Given the description of an element on the screen output the (x, y) to click on. 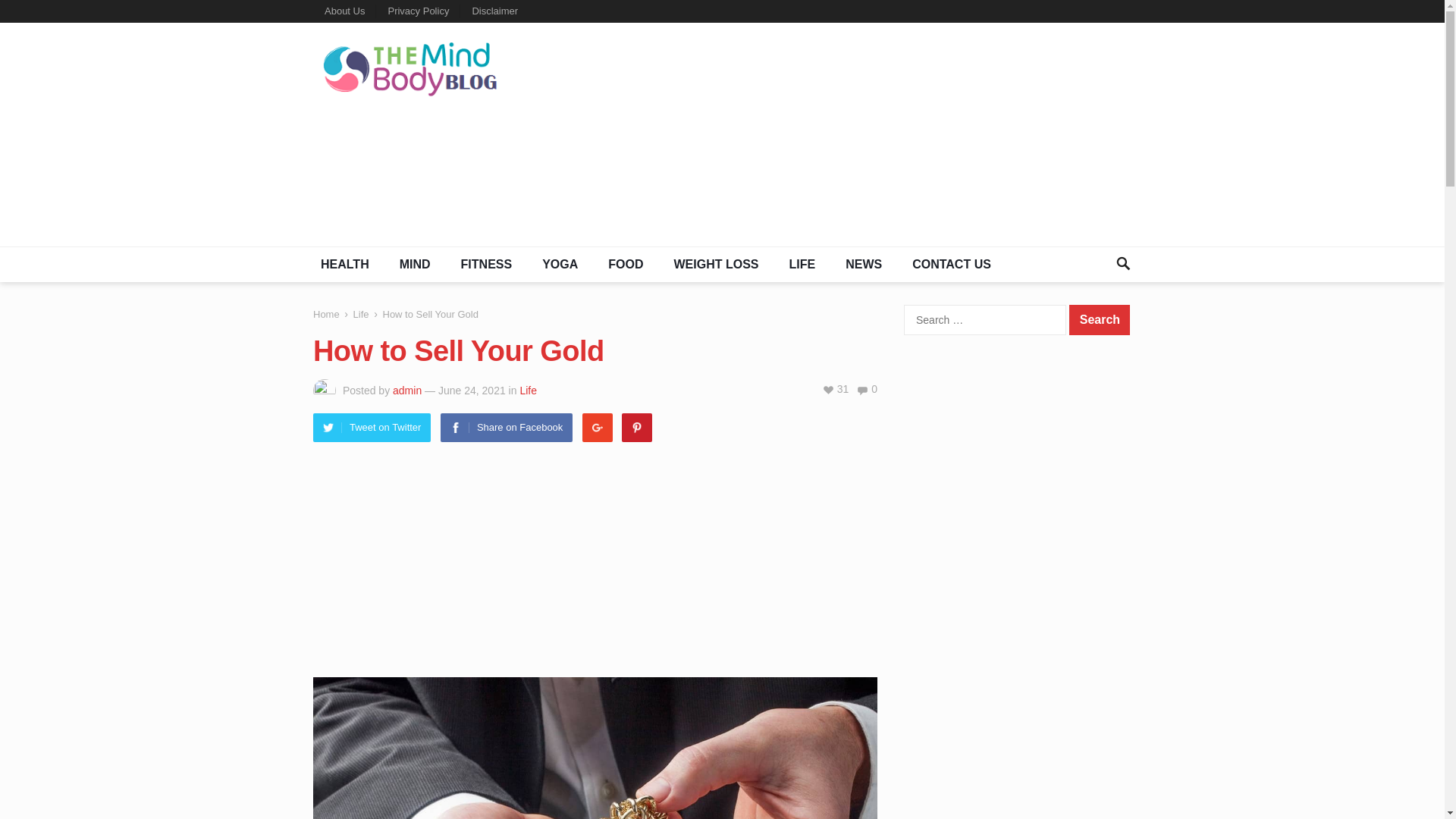
Posts by admin (407, 390)
View all posts in Life (528, 390)
Privacy Policy (417, 11)
admin (407, 390)
0 (866, 388)
Search (1098, 319)
Search (1098, 319)
FITNESS (485, 264)
LIFE (801, 264)
Disclaimer (494, 11)
